Given the description of an element on the screen output the (x, y) to click on. 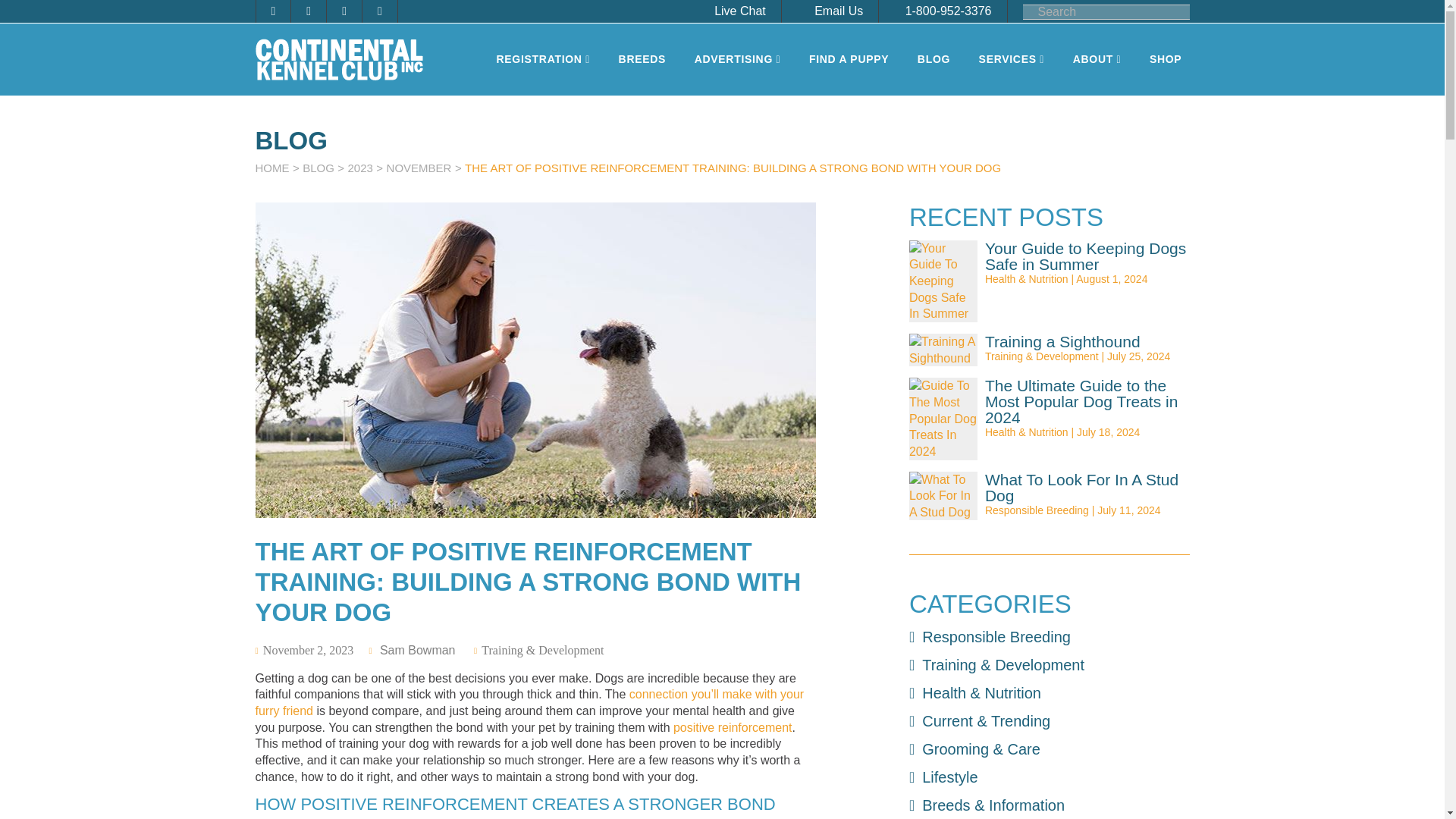
Live Chat (733, 11)
SERVICES (1011, 59)
FIND A PUPPY (849, 59)
ABOUT (1097, 59)
Email Us (830, 11)
BREEDS (642, 59)
REGISTRATION (541, 59)
ADVERTISING (738, 59)
BLOG (934, 59)
1-800-952-3376 (943, 11)
